Given the description of an element on the screen output the (x, y) to click on. 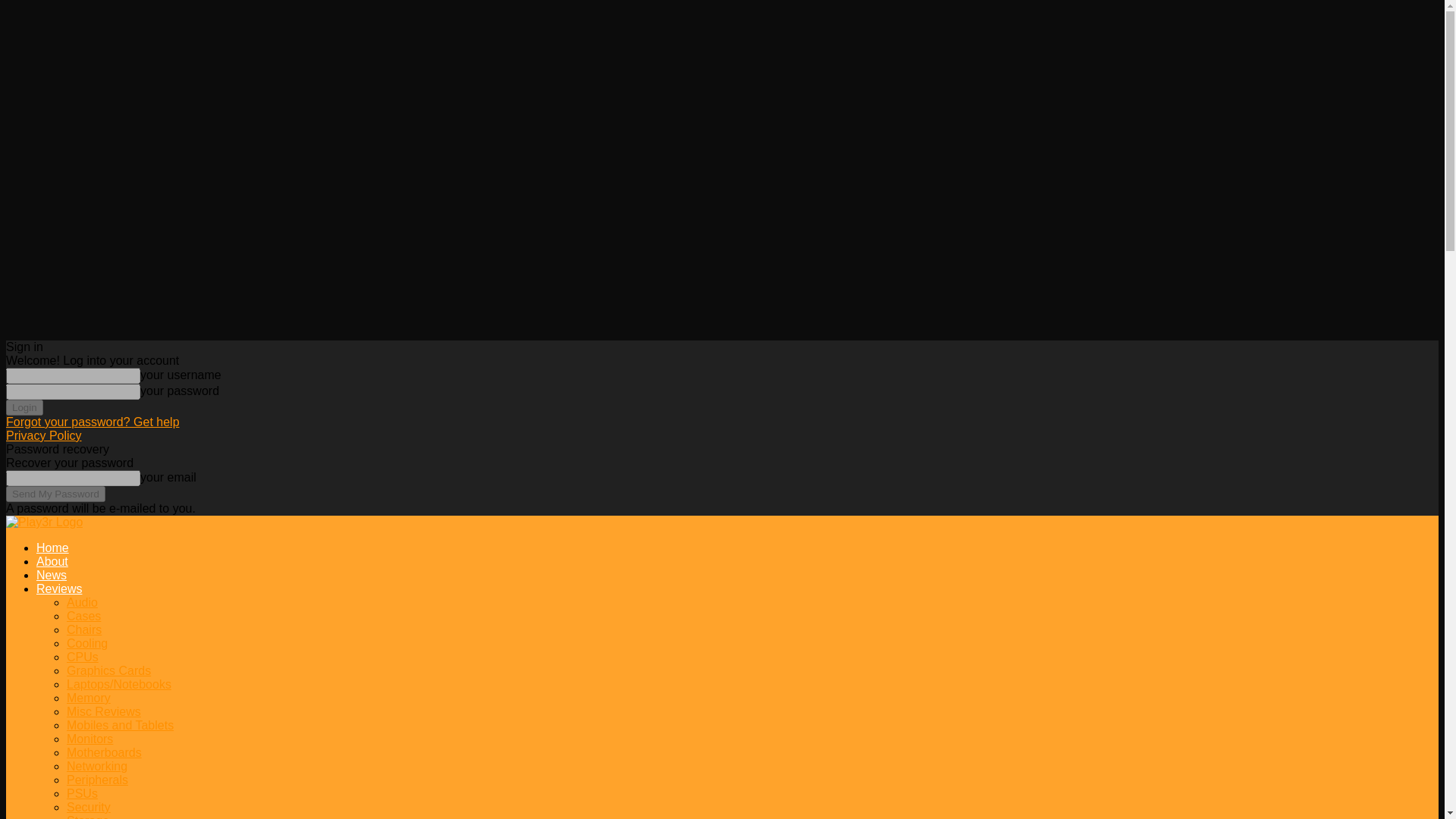
Cooling (86, 643)
About (52, 561)
Privacy Policy (43, 435)
Forgot your password? Get help (92, 421)
Cases (83, 615)
Audio (81, 602)
Reviews (58, 588)
News (51, 574)
Home (52, 547)
Chairs (83, 629)
Send My Password (54, 494)
Login (24, 407)
